Given the description of an element on the screen output the (x, y) to click on. 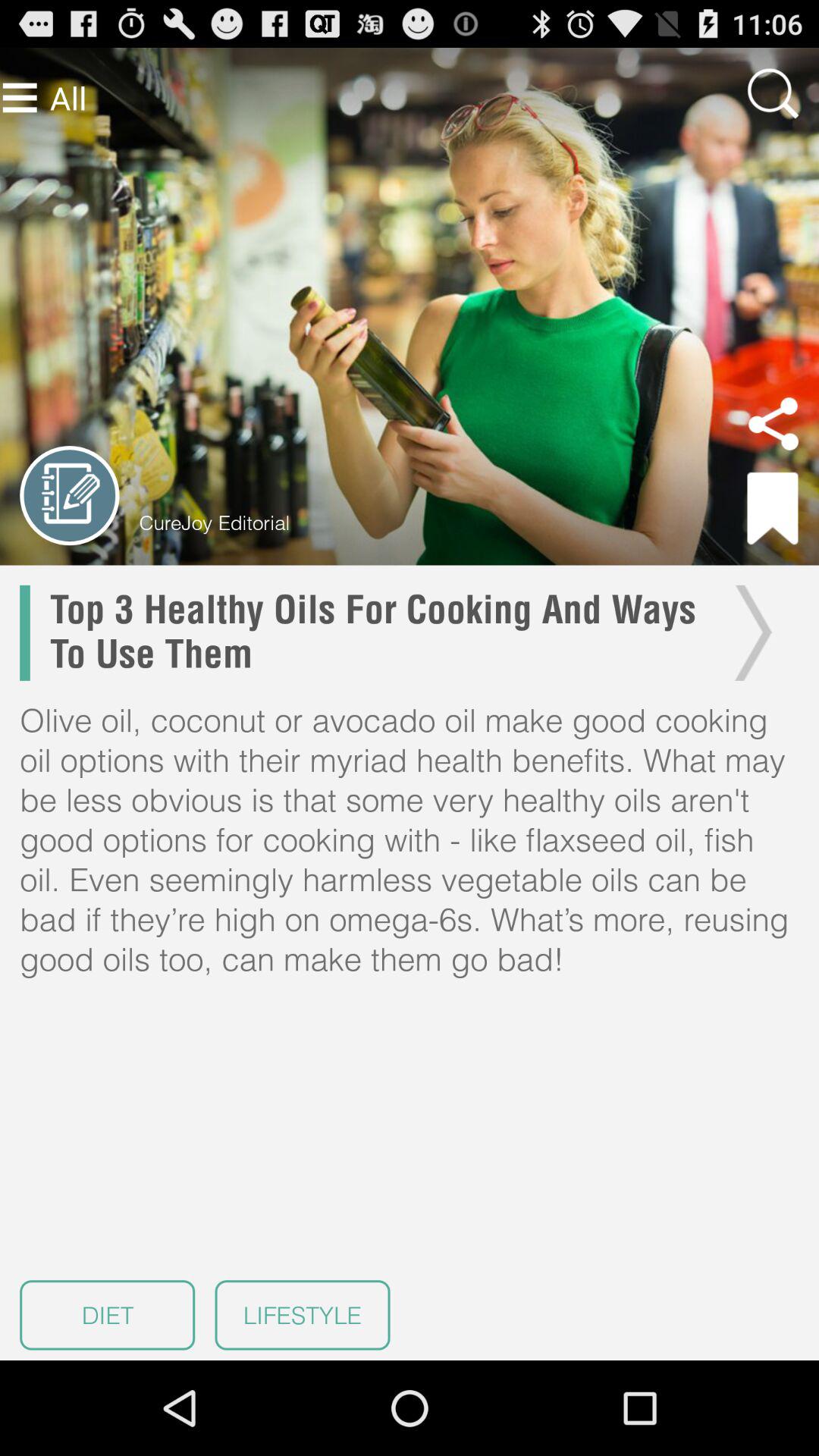
select the icon below the olive oil coconut item (107, 1315)
